Given the description of an element on the screen output the (x, y) to click on. 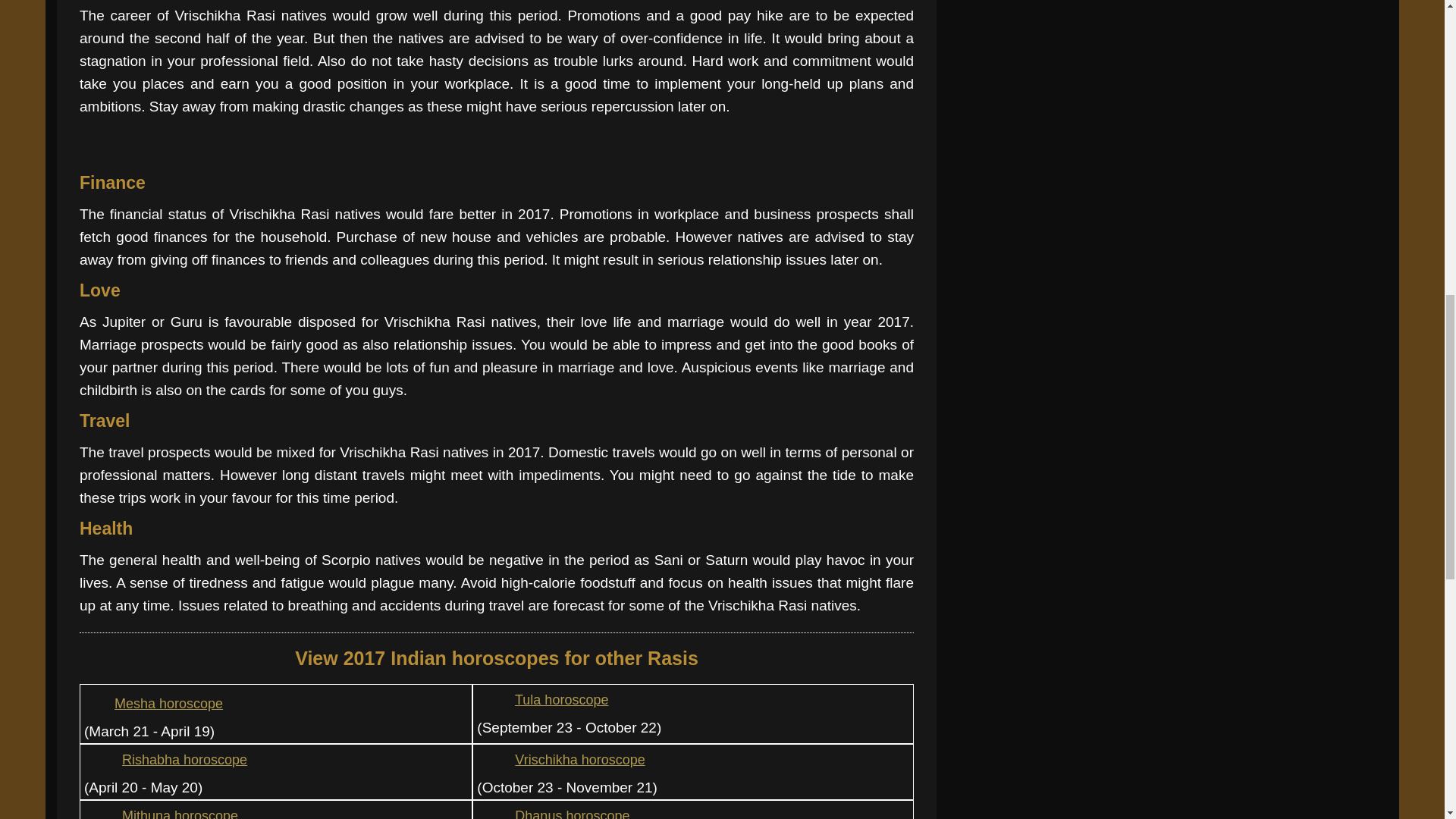
  Dhanus horoscope (552, 813)
  Tula horoscope (542, 699)
Mesha 2017 Indian horoscope (99, 704)
  Rishabha horoscope (165, 759)
2017 vrischikha  horoscope (491, 760)
Tula 2017 Indian horoscope (491, 700)
Rishabha 2017 Indian horoscope (99, 760)
Mesha horoscope (153, 703)
Dhanus 2017 Indian horoscope (491, 809)
  Vrischikha horoscope (561, 759)
